Given the description of an element on the screen output the (x, y) to click on. 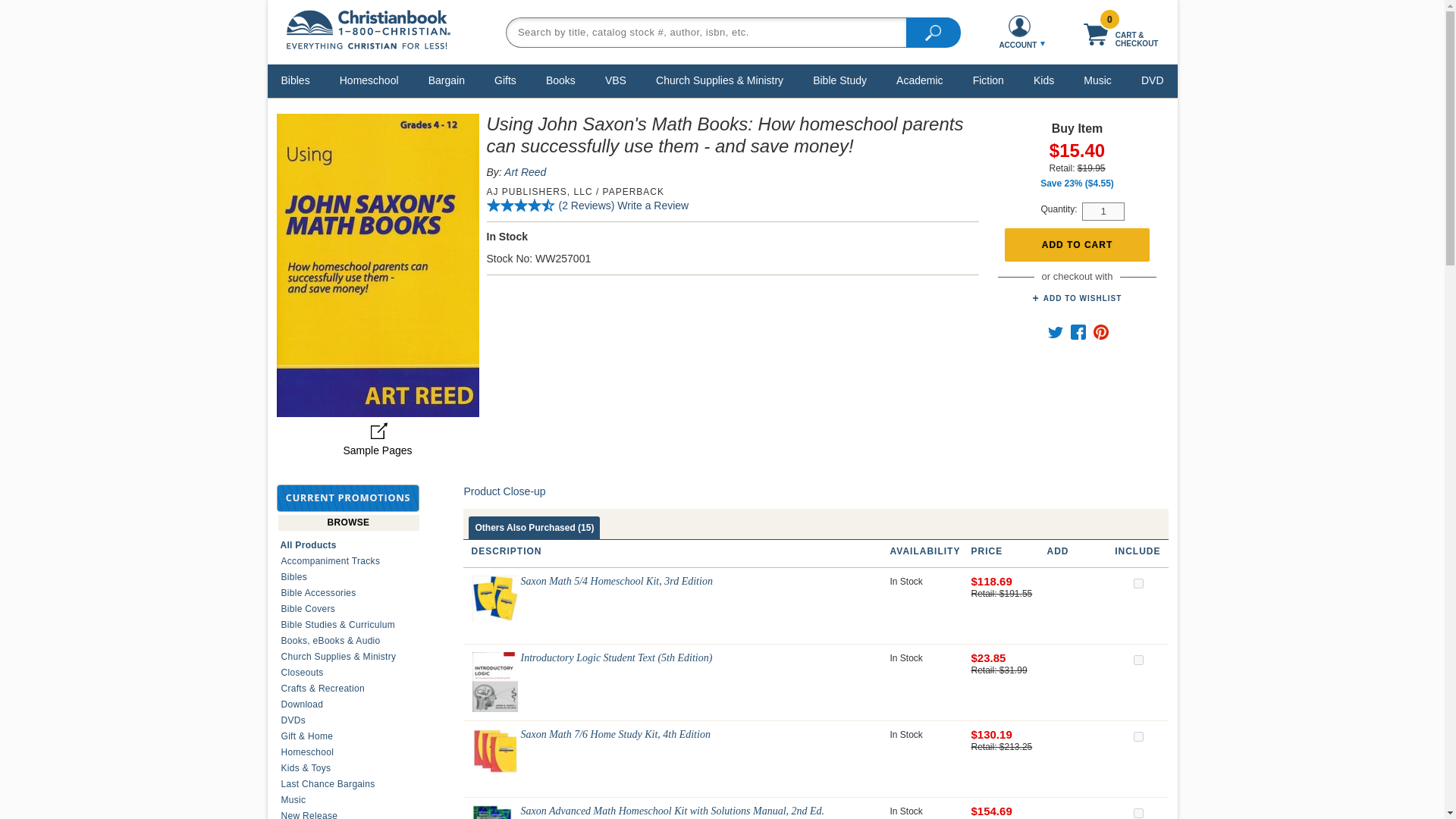
Bibles (295, 79)
993494 (1137, 737)
Bargain (446, 79)
Books (560, 79)
Academic (919, 79)
281659 (1137, 660)
Homeschool (369, 79)
ACCOUNT (1019, 32)
Art Reed (524, 172)
